Given the description of an element on the screen output the (x, y) to click on. 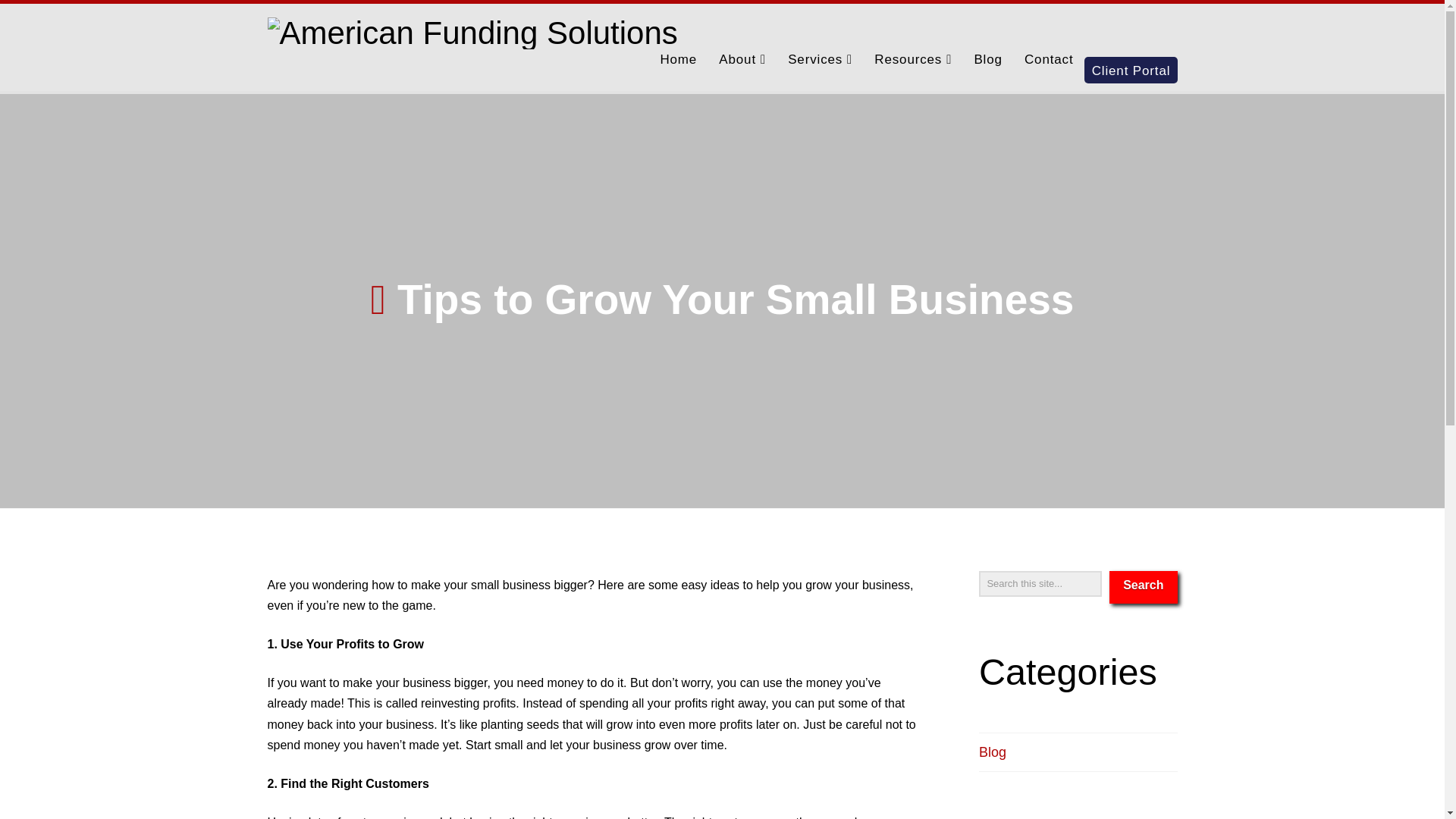
Services (819, 71)
Blog (987, 71)
About (741, 71)
Resources (912, 71)
Contact (1048, 71)
Home (677, 71)
Contact American Funding Solution (1048, 71)
Client Portal (1130, 75)
Client Portal (1130, 75)
